Given the description of an element on the screen output the (x, y) to click on. 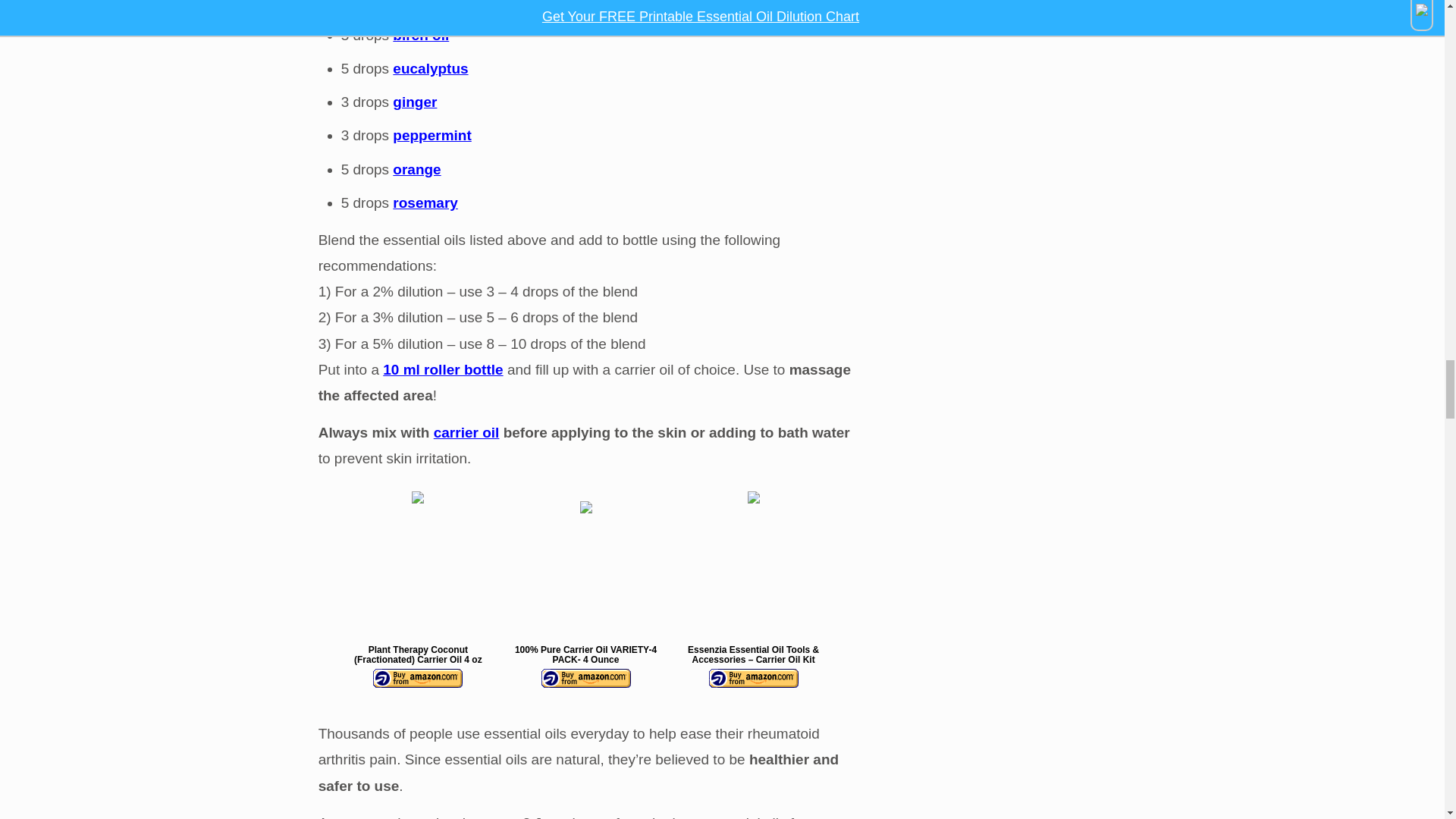
orange (417, 169)
peppermint (431, 135)
eucalyptus (430, 68)
ginger (414, 101)
birch oil (420, 35)
